Given the description of an element on the screen output the (x, y) to click on. 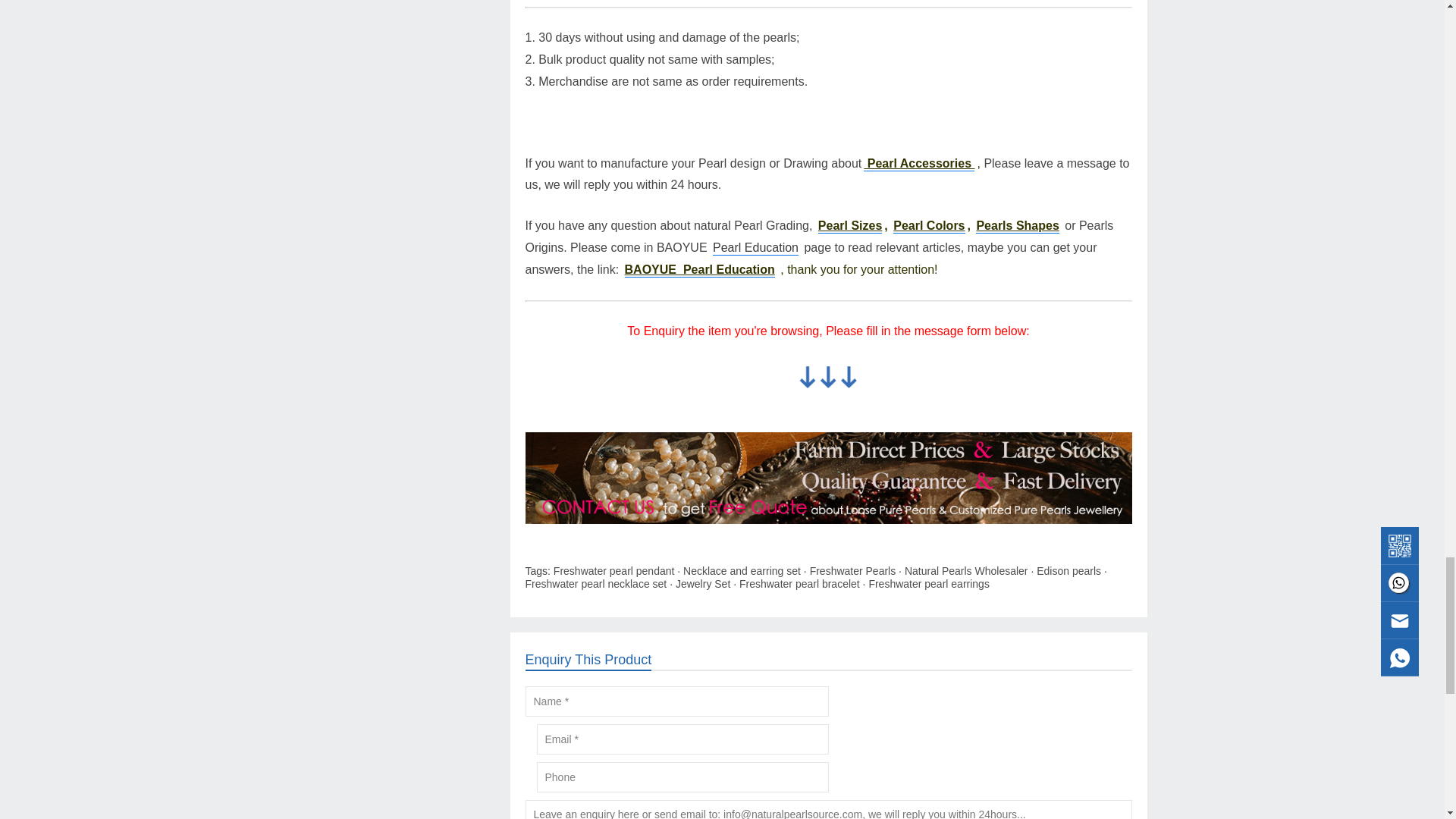
Pearl Education (755, 247)
